Given the description of an element on the screen output the (x, y) to click on. 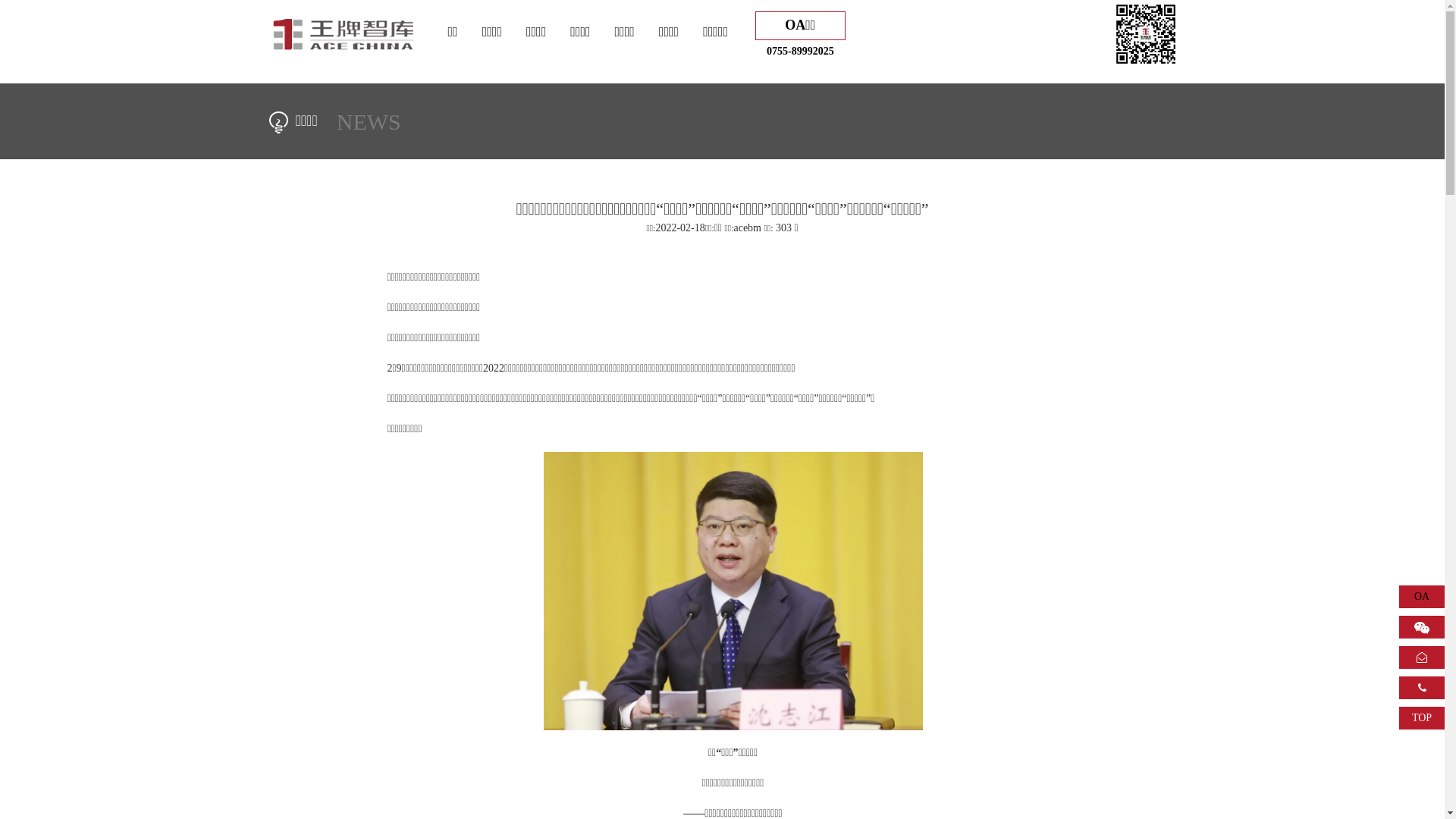
OA Element type: text (1421, 596)
